Given the description of an element on the screen output the (x, y) to click on. 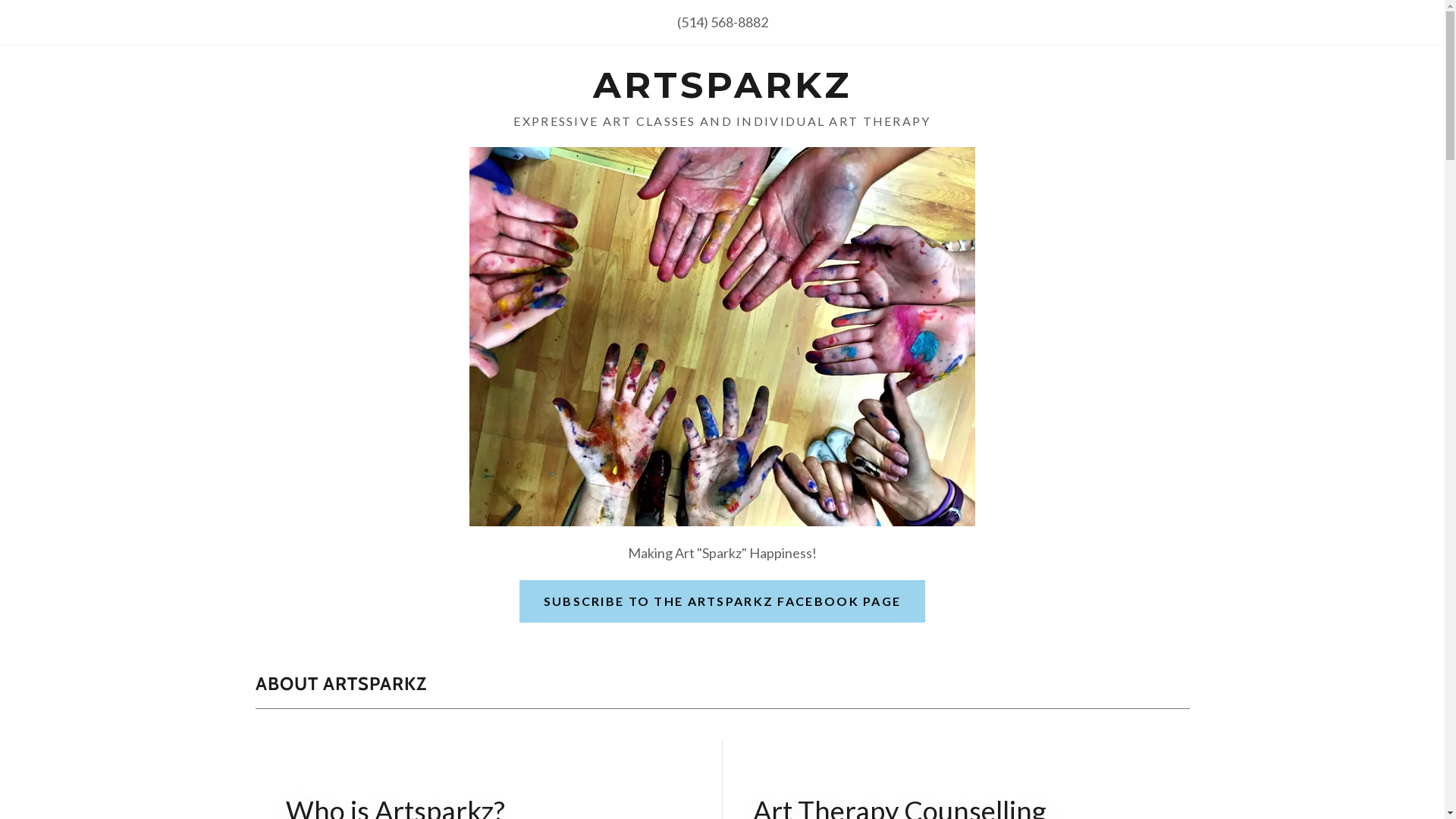
SUBSCRIBE TO THE ARTSPARKZ FACEBOOK PAGE Element type: text (722, 601)
(514) 568-8882 Element type: text (721, 21)
ARTSPARKZ Element type: text (722, 92)
